Given the description of an element on the screen output the (x, y) to click on. 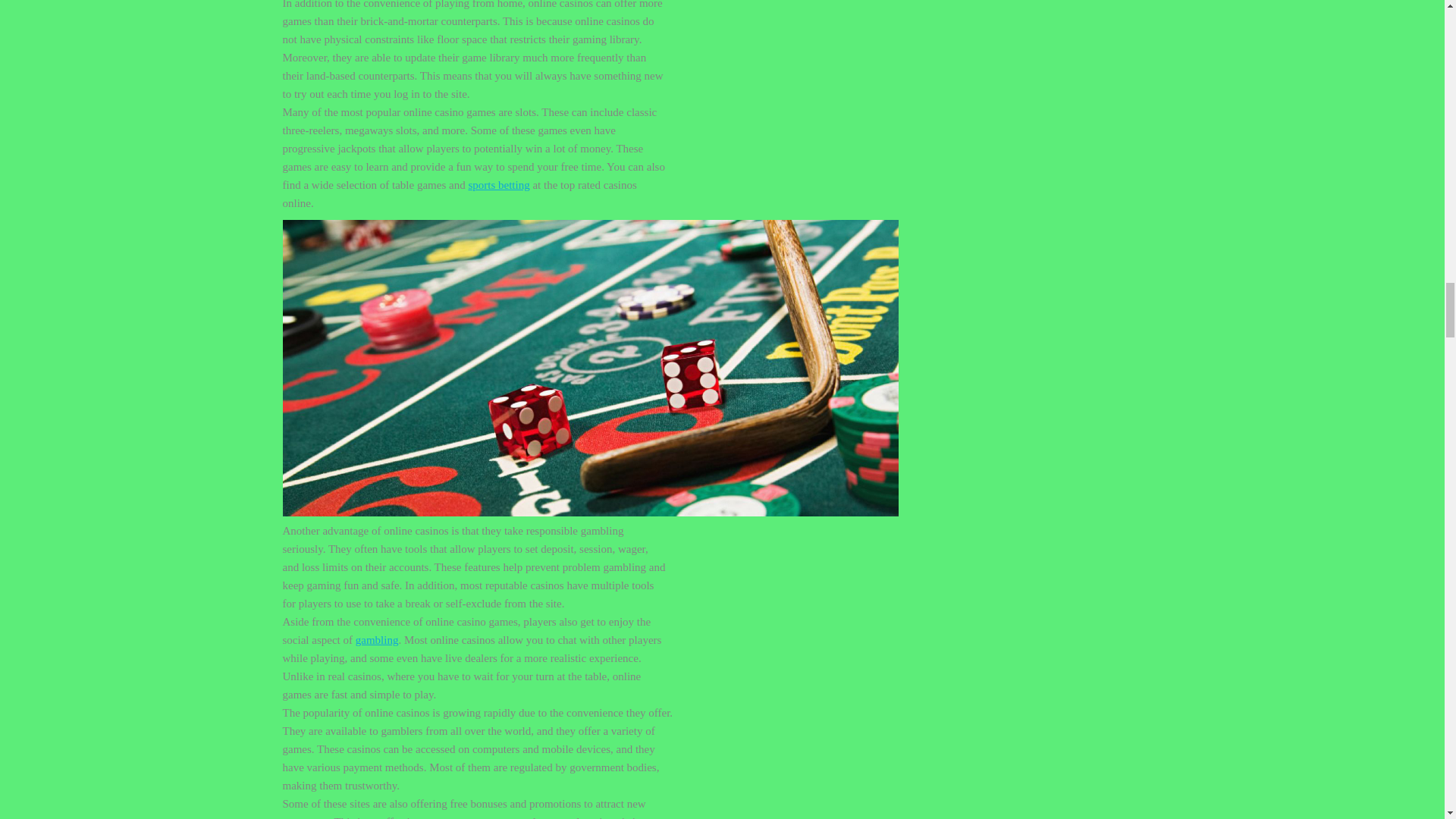
gambling (376, 639)
sports betting (498, 184)
